Given the description of an element on the screen output the (x, y) to click on. 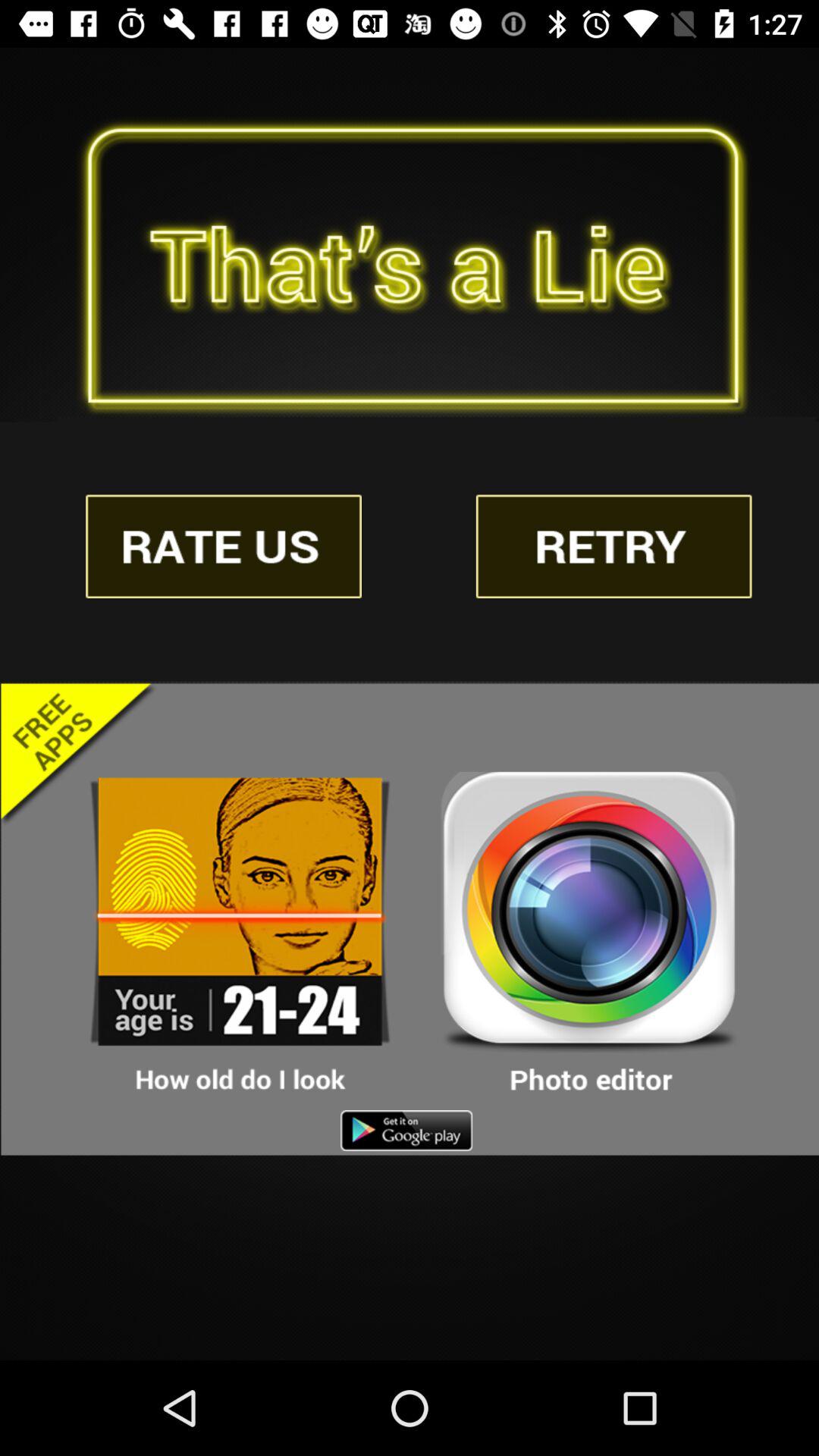
rate (223, 546)
